Given the description of an element on the screen output the (x, y) to click on. 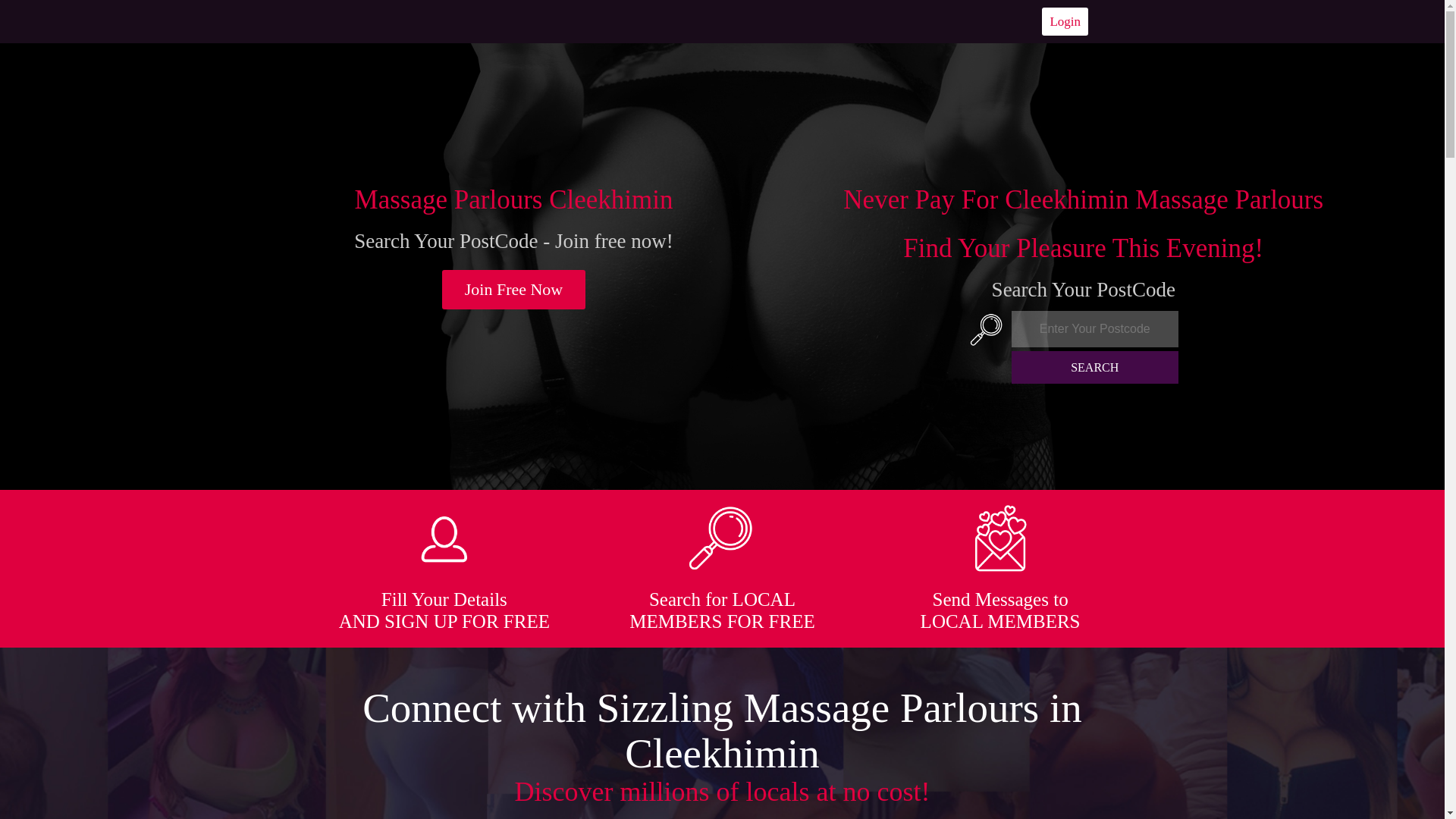
SEARCH (1094, 367)
Join (514, 289)
Login (1064, 21)
Join Free Now (514, 289)
Login (1064, 21)
